Given the description of an element on the screen output the (x, y) to click on. 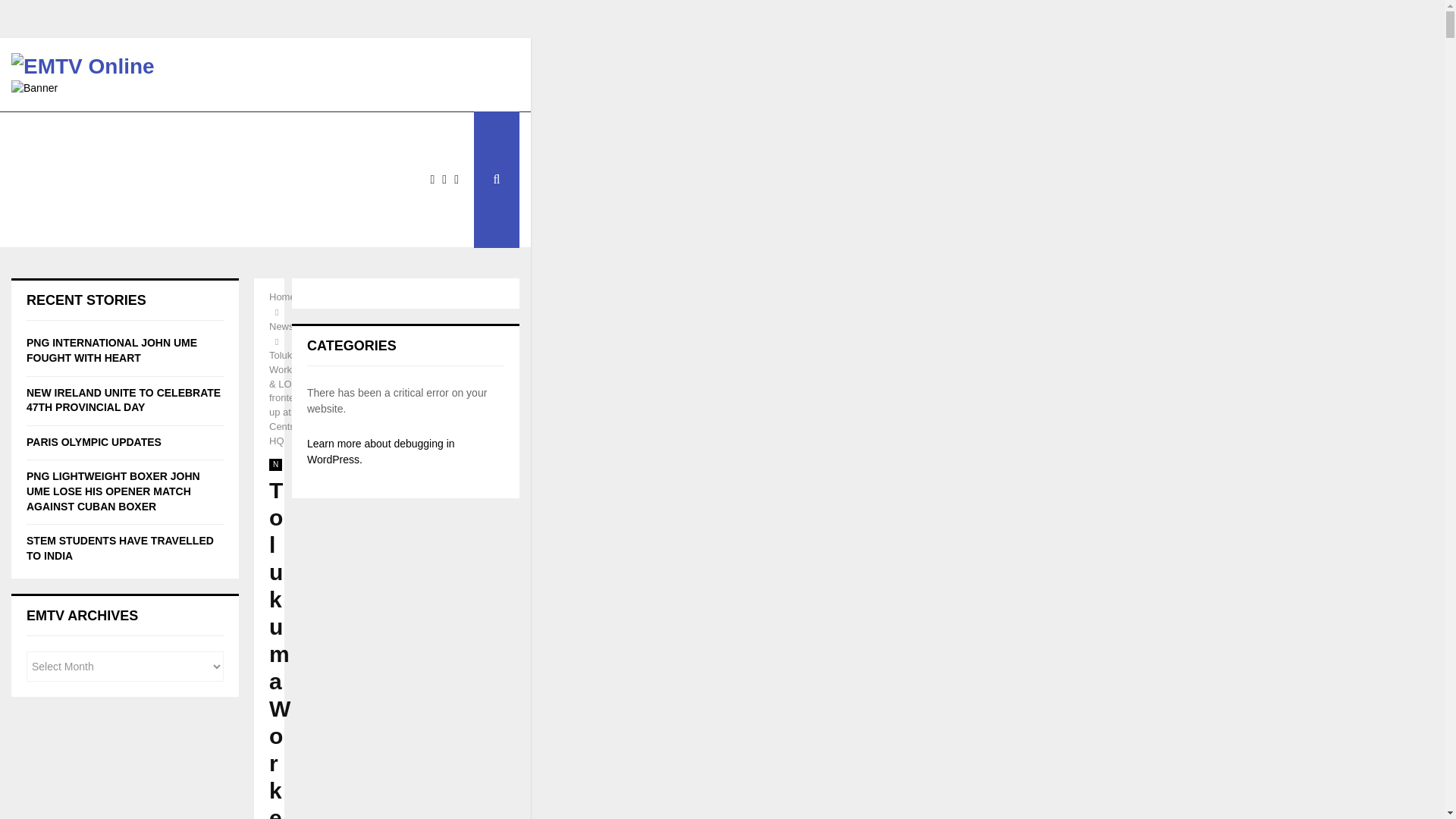
WATCH NOW (126, 134)
PROGRAMMES (333, 134)
NEWS (45, 134)
LIFE (113, 179)
SPORT (47, 179)
TV SCHEDULE (225, 134)
